Given the description of an element on the screen output the (x, y) to click on. 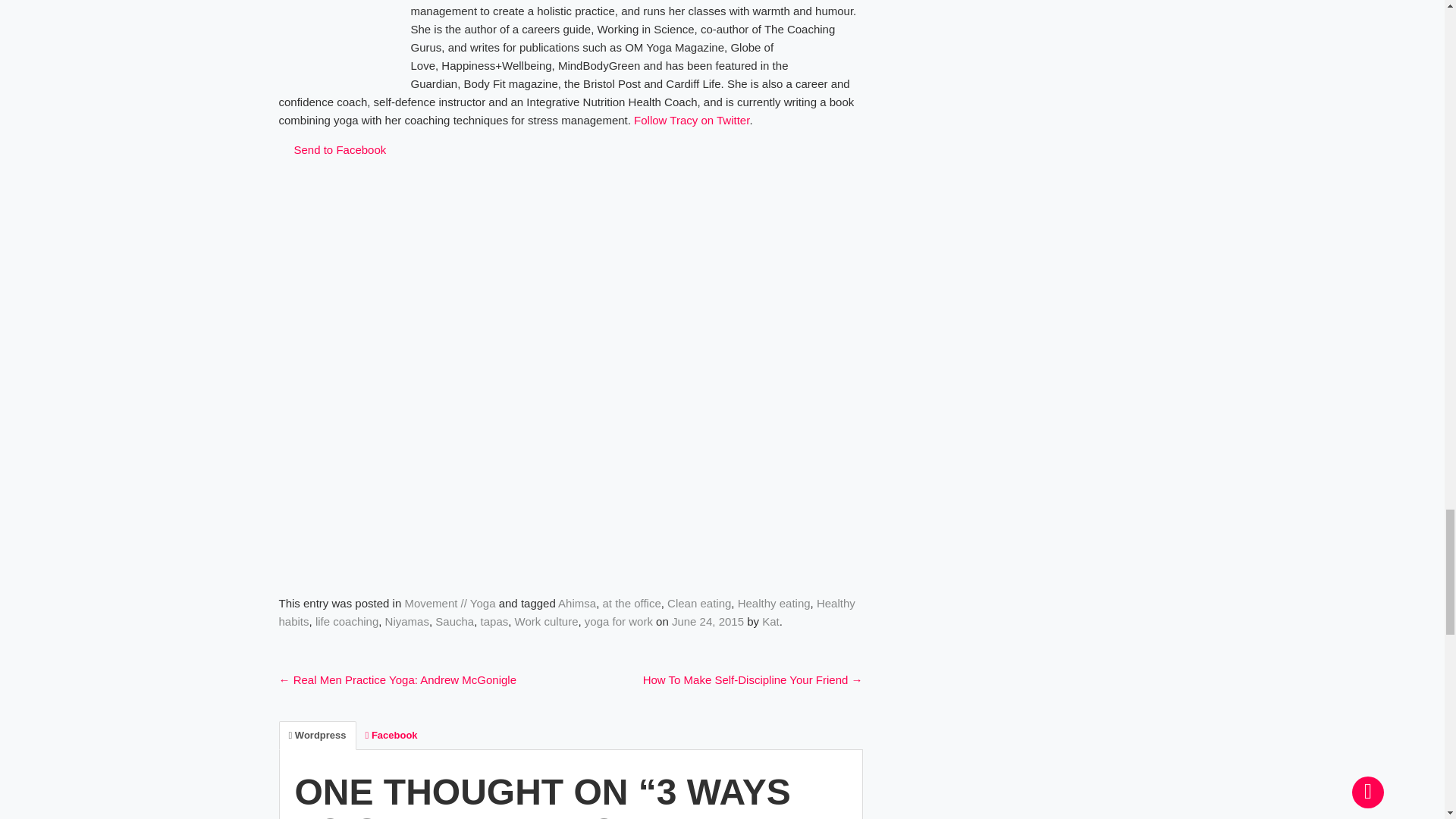
View all posts by Kat (769, 621)
Healthy eating (774, 603)
5:37 pm (707, 621)
Send to Facebook (333, 149)
life coaching (346, 621)
at the office (631, 603)
Saucha (454, 621)
Healthy habits (567, 612)
Work culture (546, 621)
Follow Tracy on Twitter (691, 119)
